Given the description of an element on the screen output the (x, y) to click on. 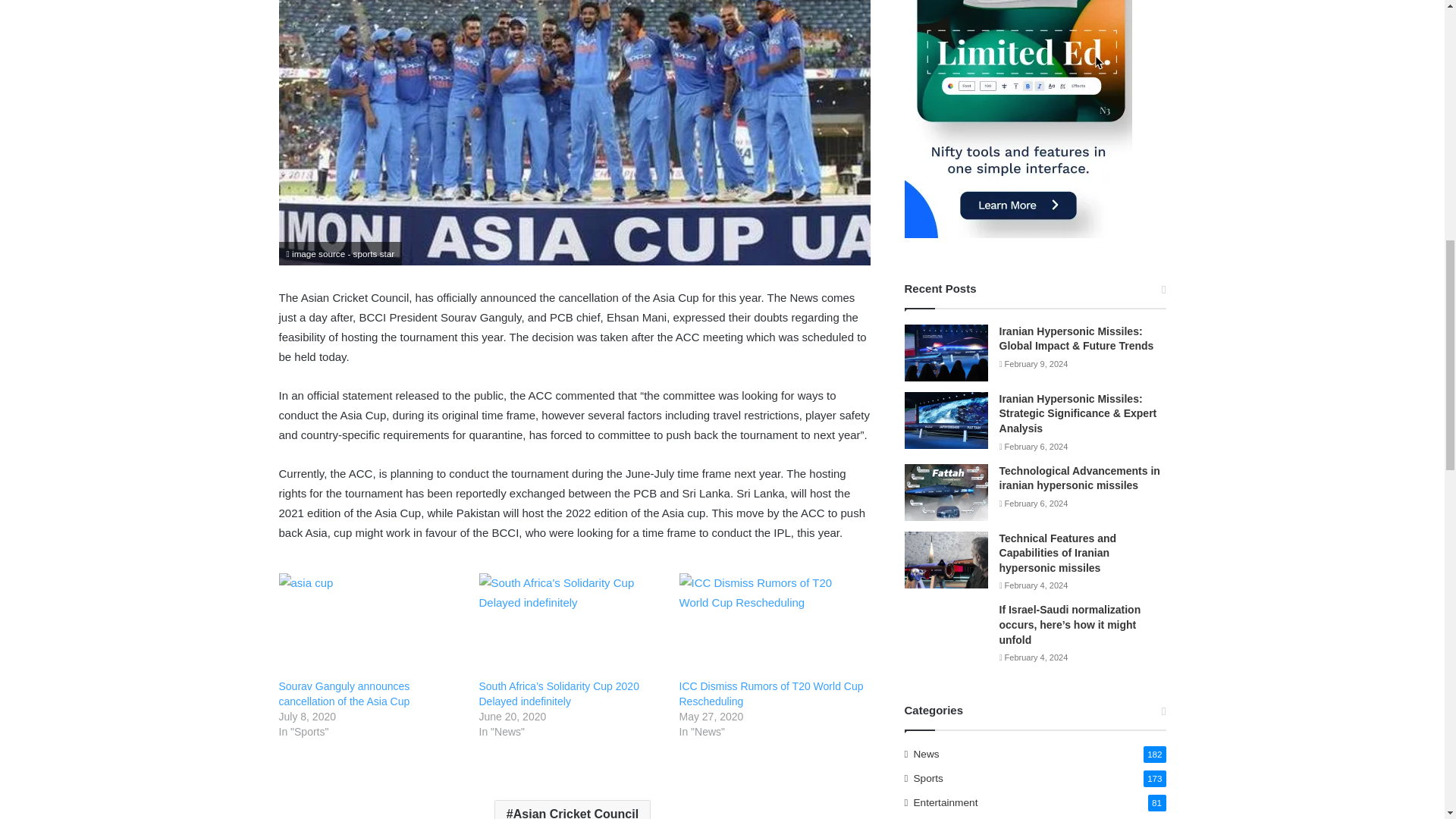
Sourav Ganguly announces cancellation of the Asia Cup (344, 693)
Sourav Ganguly announces cancellation of the Asia Cup (344, 693)
Sourav Ganguly announces cancellation of the Asia Cup (371, 625)
